Given the description of an element on the screen output the (x, y) to click on. 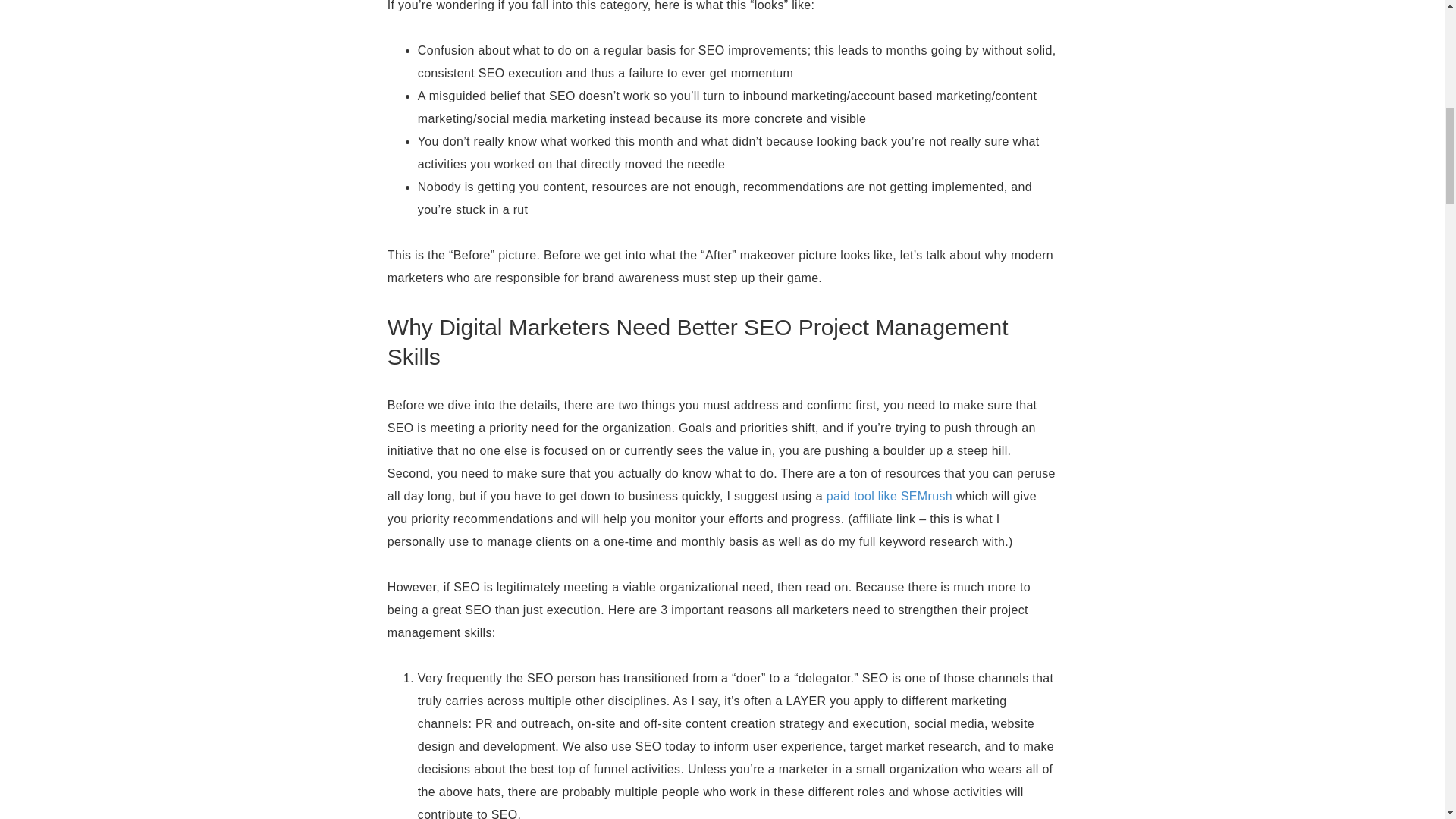
paid tool like SEMrush (889, 495)
